Given the description of an element on the screen output the (x, y) to click on. 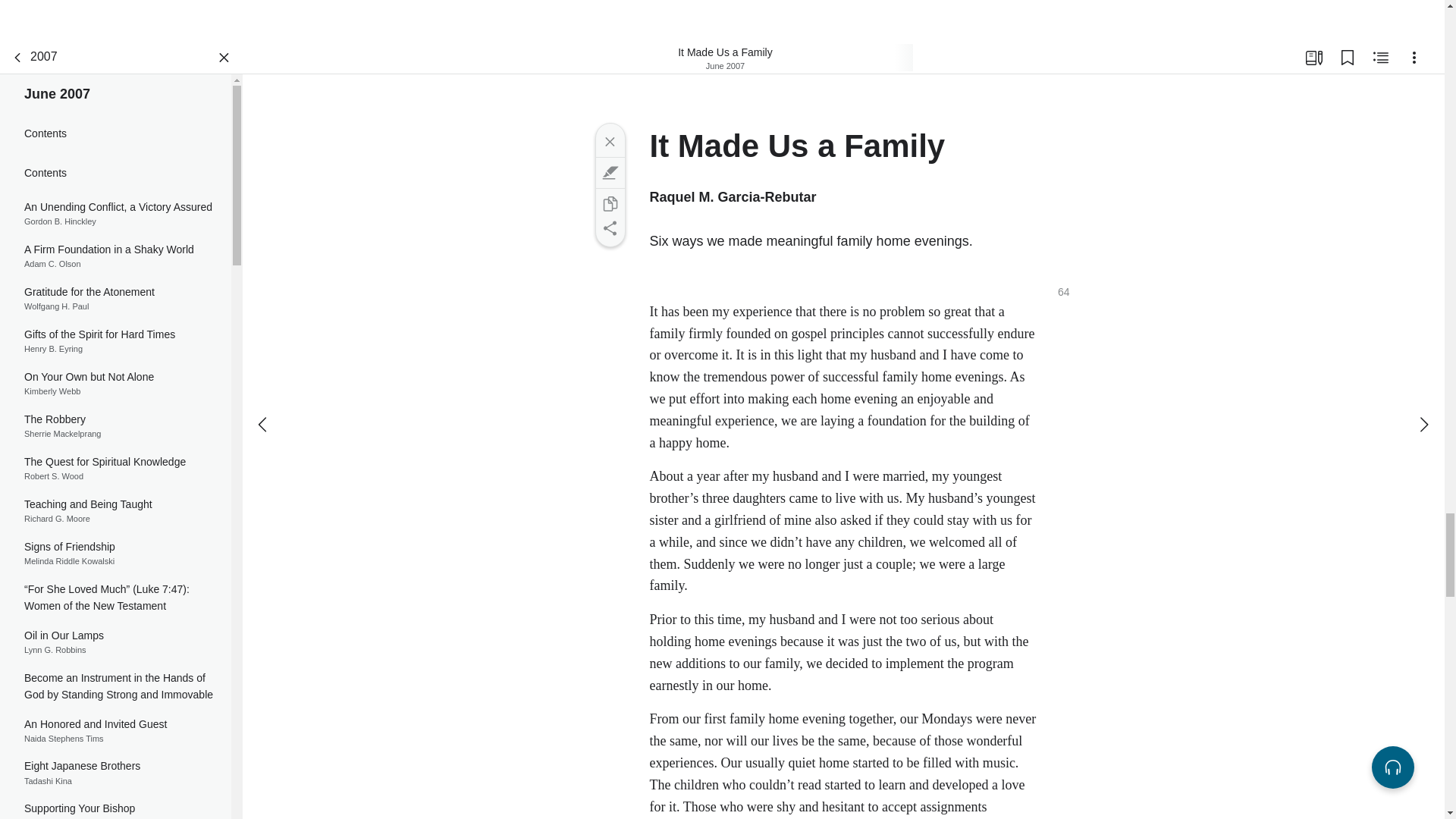
Related Content (115, 341)
Table of Contents (115, 425)
Bookmarks (115, 731)
